Given the description of an element on the screen output the (x, y) to click on. 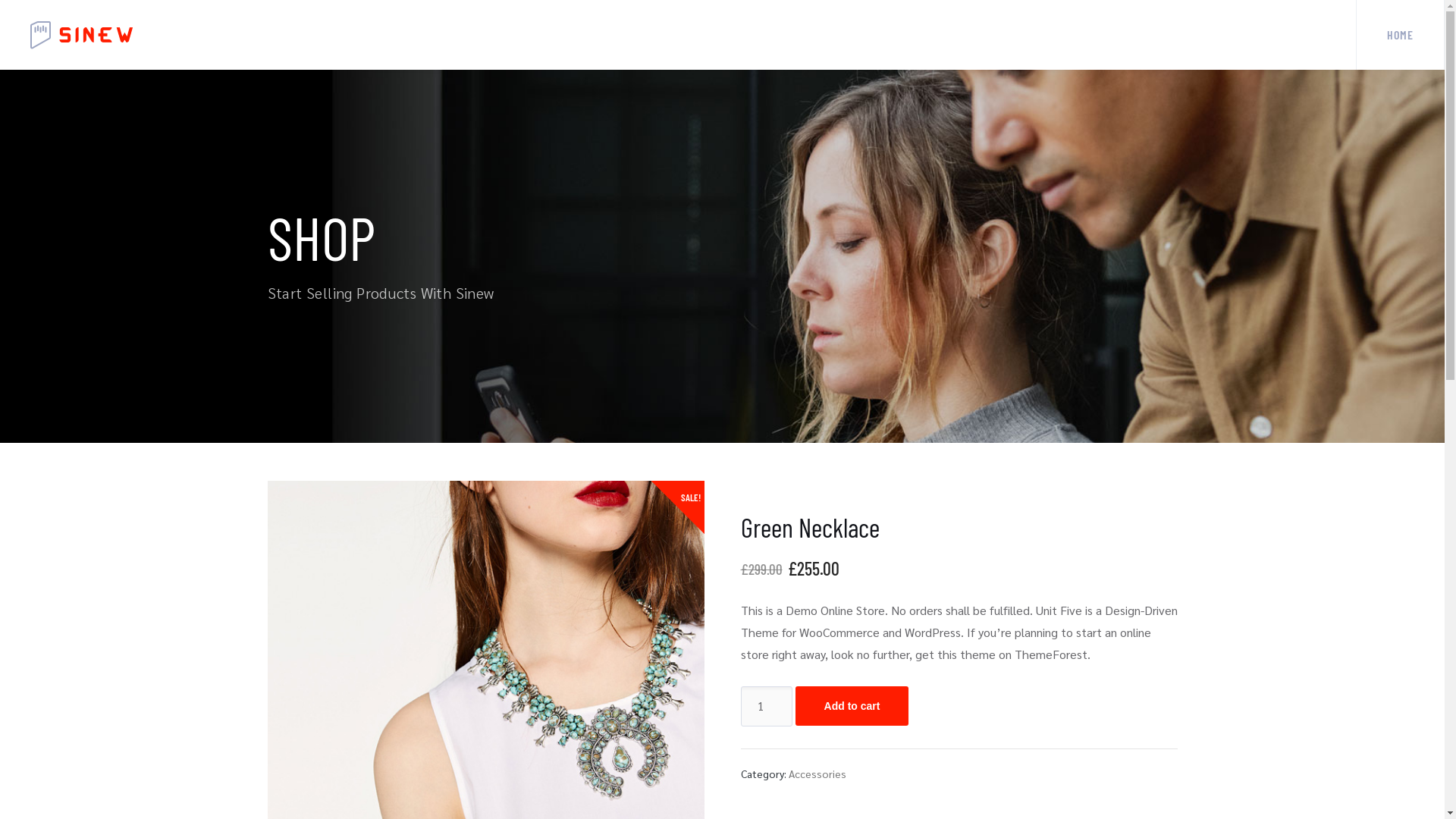
Add to cart Element type: text (852, 705)
Qty Element type: hover (765, 706)
Accessories Element type: text (817, 773)
HOME Element type: text (1399, 34)
